Given the description of an element on the screen output the (x, y) to click on. 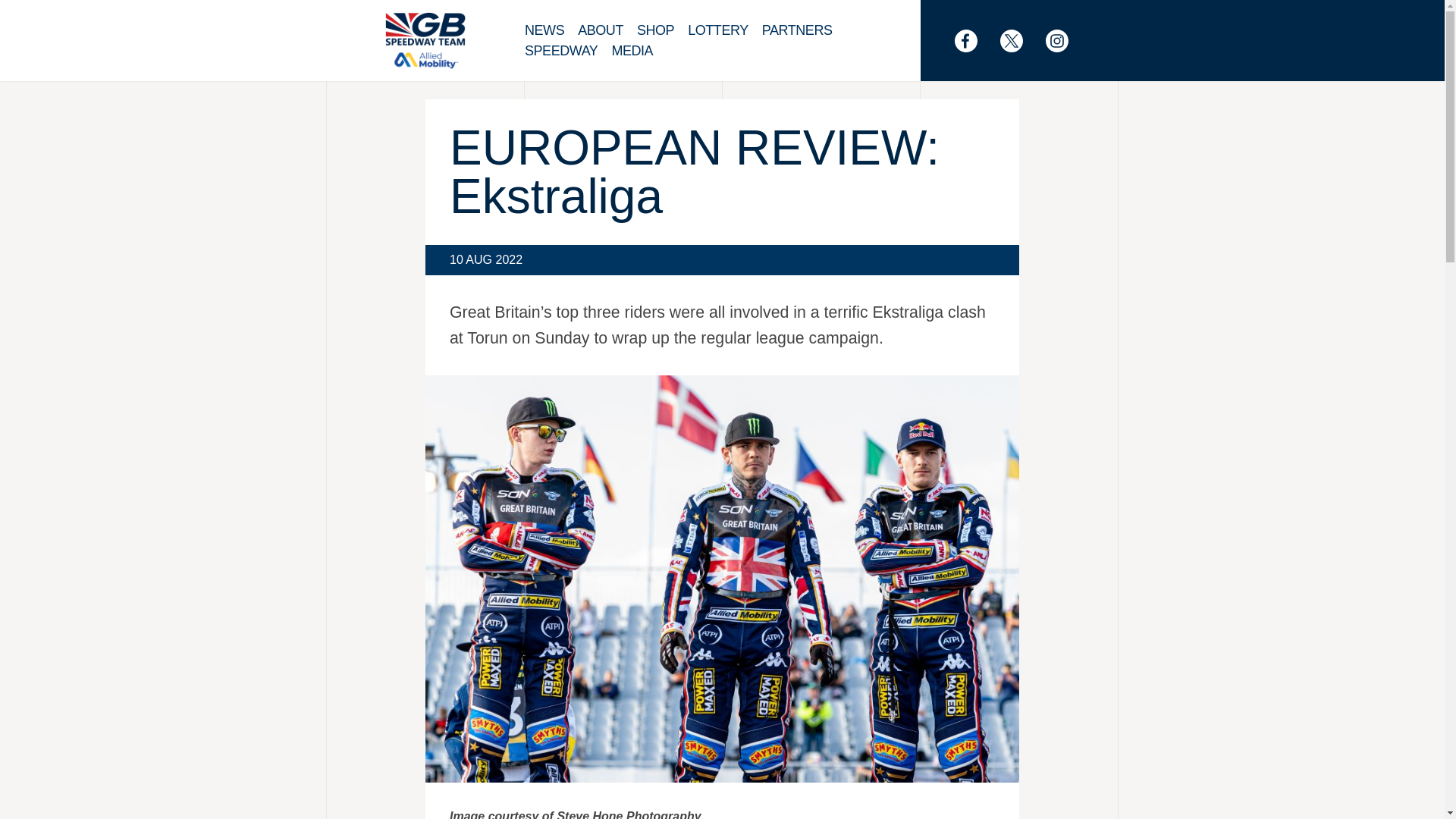
SPEEDWAY (567, 50)
ABOUT (607, 30)
PARTNERS (803, 30)
MEDIA (638, 50)
Follow us on Instagram (1064, 40)
LOTTERY (724, 30)
Follow us on Twitter (1019, 40)
Find us on Facebook (973, 40)
SHOP (662, 30)
NEWS (551, 30)
